Given the description of an element on the screen output the (x, y) to click on. 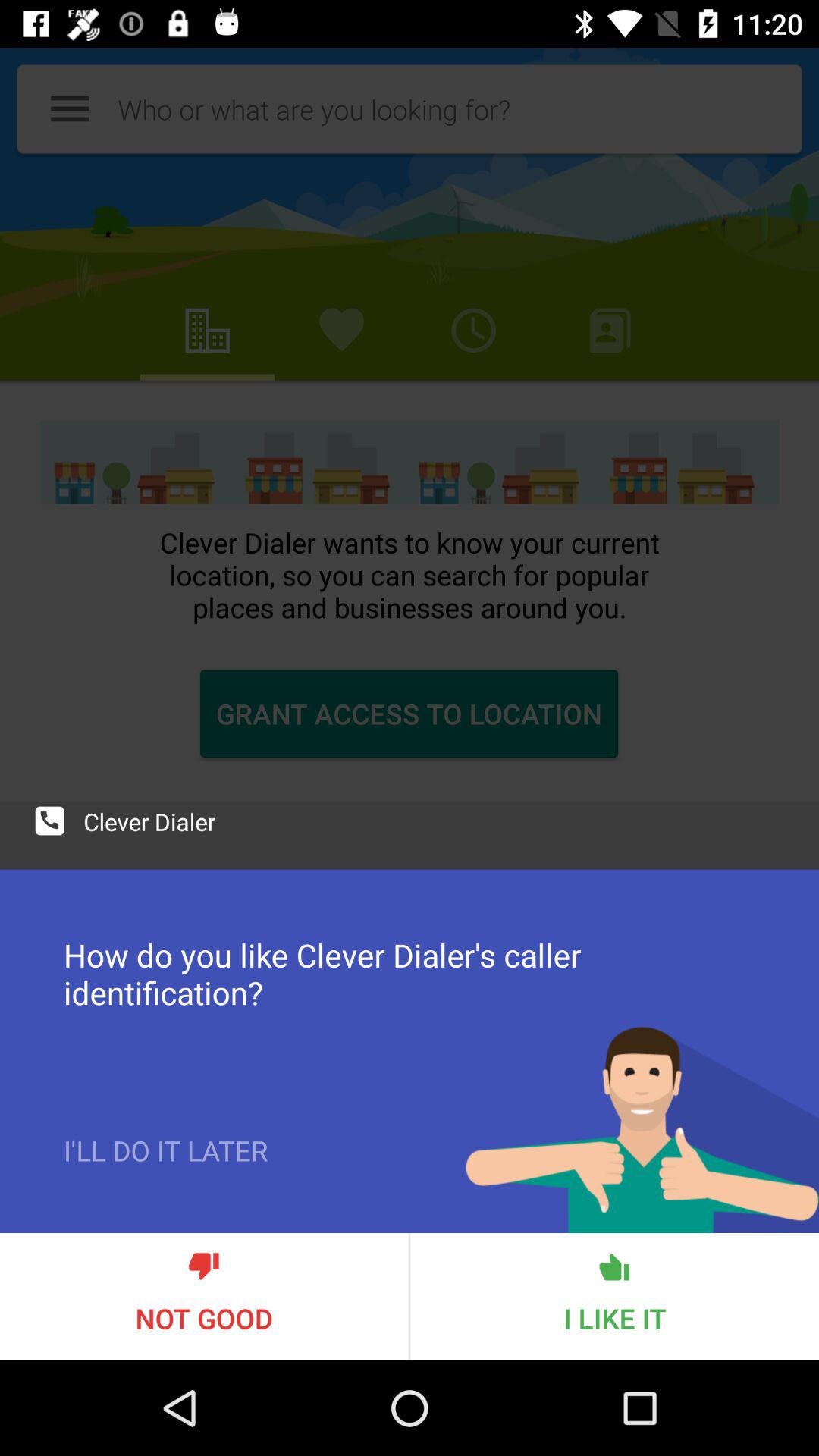
choose i ll do (165, 1182)
